Given the description of an element on the screen output the (x, y) to click on. 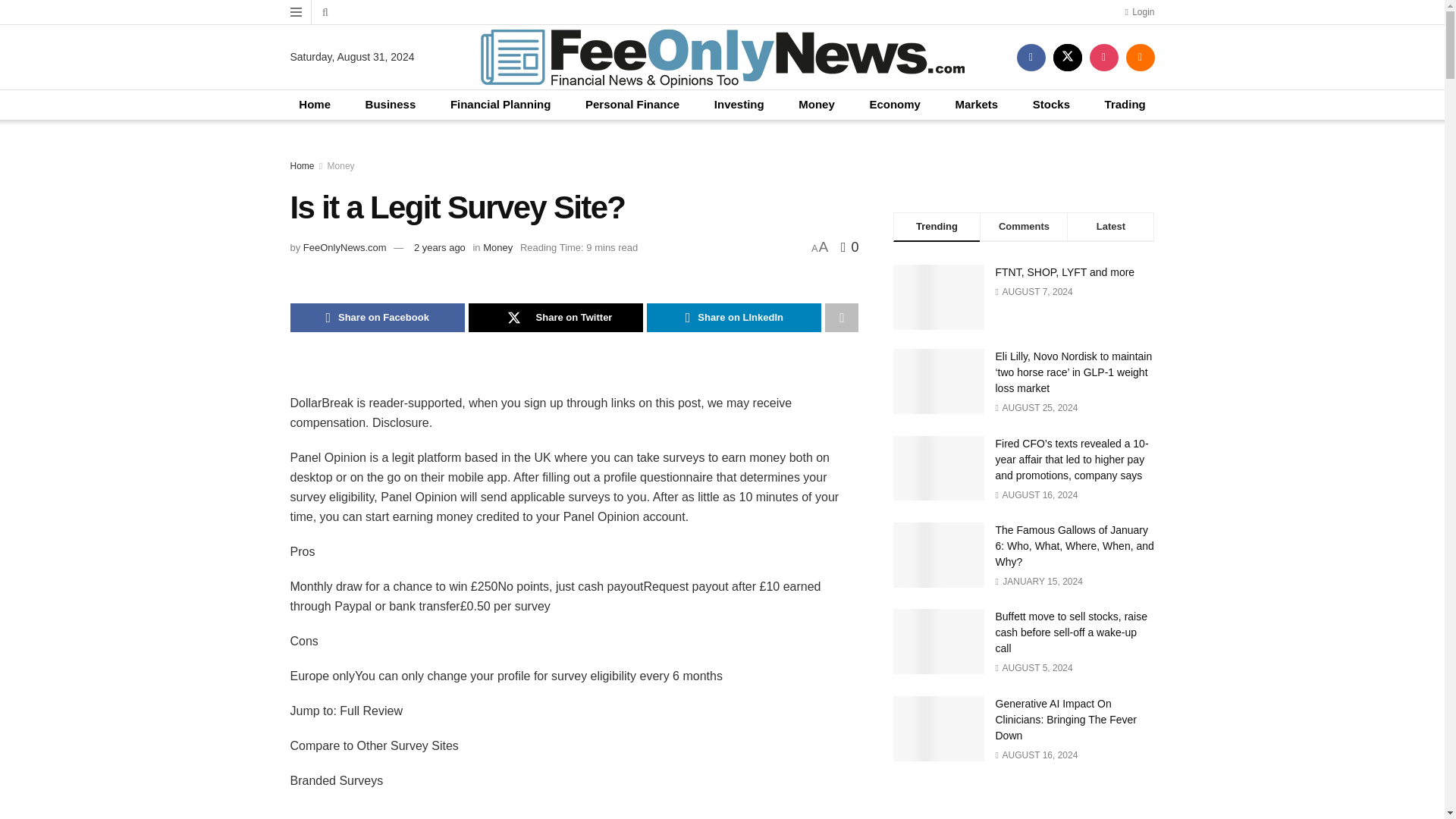
Money (815, 104)
Business (390, 104)
Trading (1125, 104)
Financial Planning (500, 104)
Login (1139, 12)
Money (341, 165)
Personal Finance (632, 104)
Money (497, 247)
Home (301, 165)
Investing (739, 104)
